Given the description of an element on the screen output the (x, y) to click on. 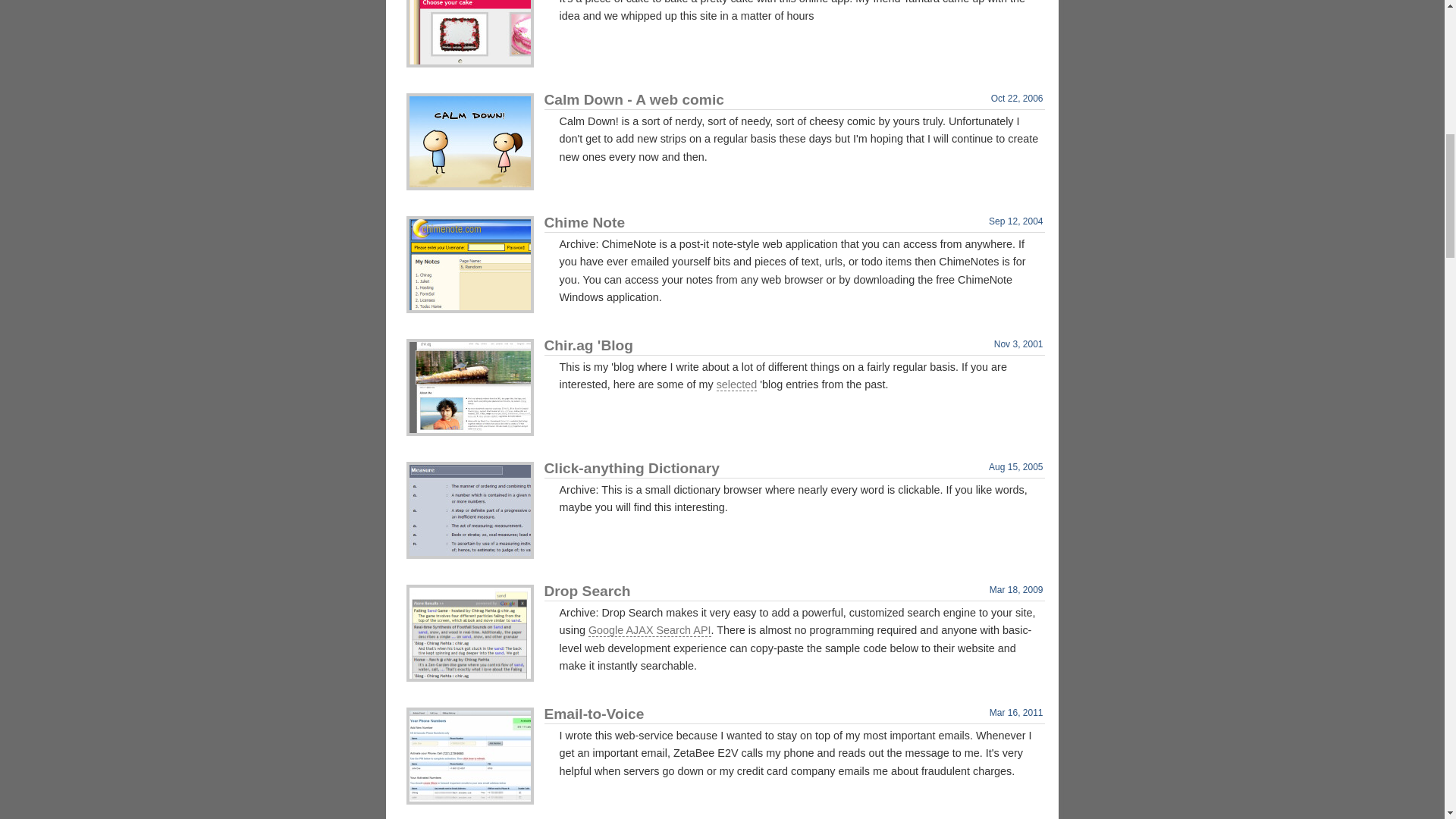
Drop Search (470, 632)
Chir.ag 'Blog (470, 387)
Chime Note (470, 264)
Calm Down - A web comic (470, 141)
Click-anything Dictionary (470, 509)
Cakesy.com (470, 33)
Email-to-Voice (470, 755)
